Given the description of an element on the screen output the (x, y) to click on. 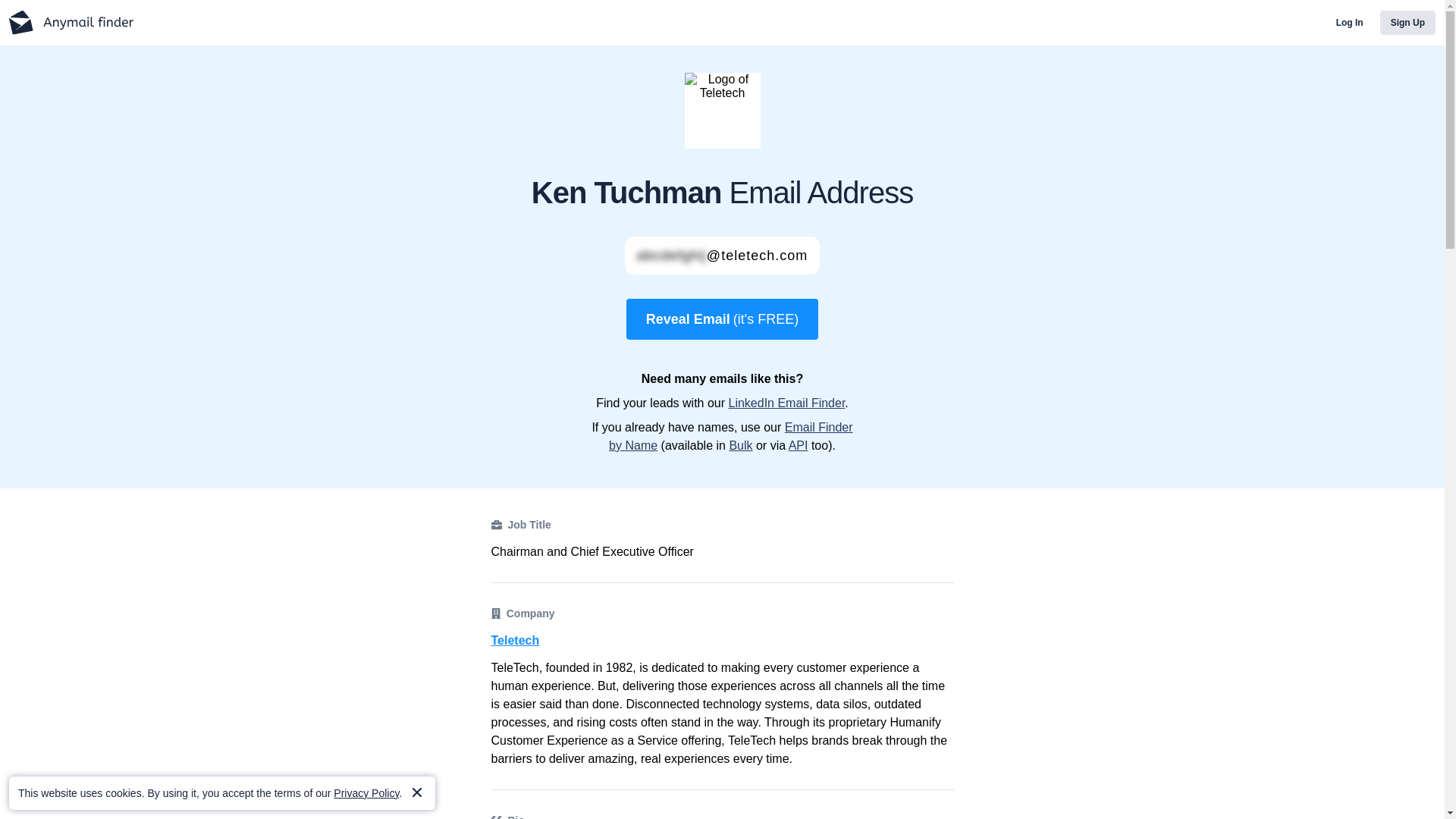
Bulk (740, 445)
Sign Up (1407, 22)
LinkedIn Email Finder (786, 402)
API (798, 445)
Teletech (722, 640)
Email Finder by Name (730, 436)
Log In (1349, 22)
